Given the description of an element on the screen output the (x, y) to click on. 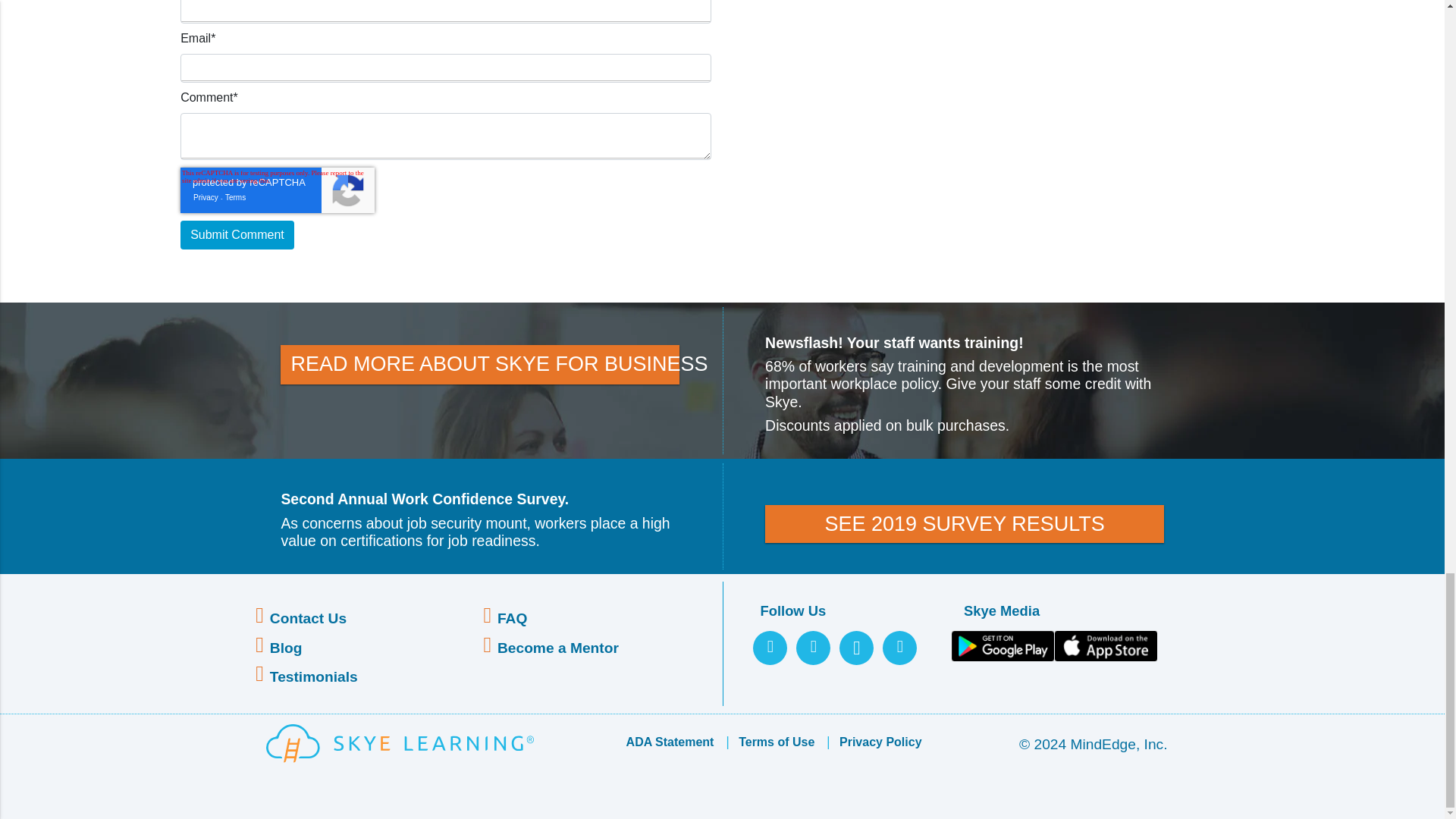
reCAPTCHA (277, 189)
Submit Comment (237, 234)
